Given the description of an element on the screen output the (x, y) to click on. 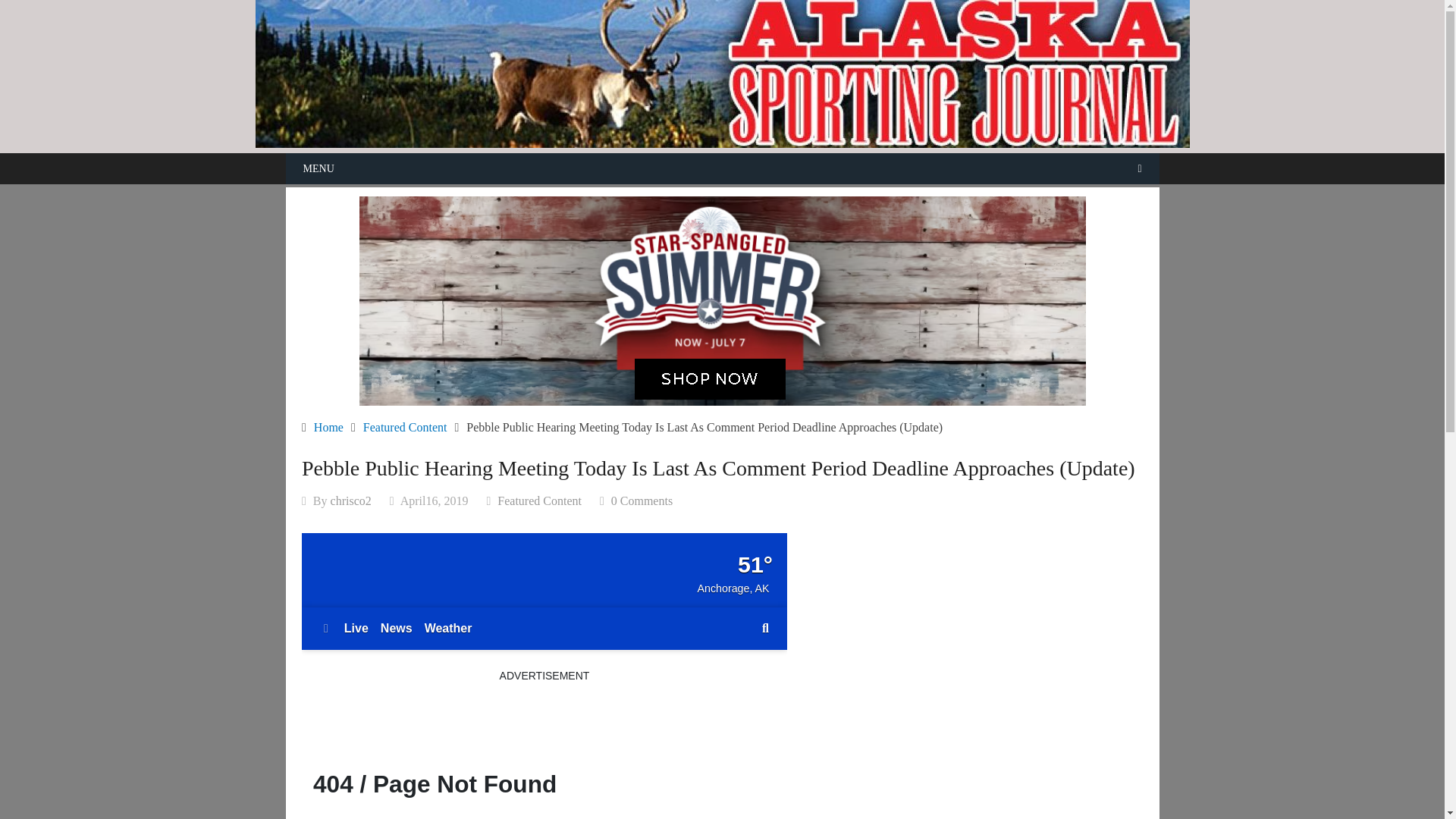
MENU (721, 168)
Home (328, 427)
0 Comments (641, 500)
Posts by chrisco2 (350, 500)
chrisco2 (350, 500)
Featured Content (538, 500)
Featured Content (404, 427)
